Given the description of an element on the screen output the (x, y) to click on. 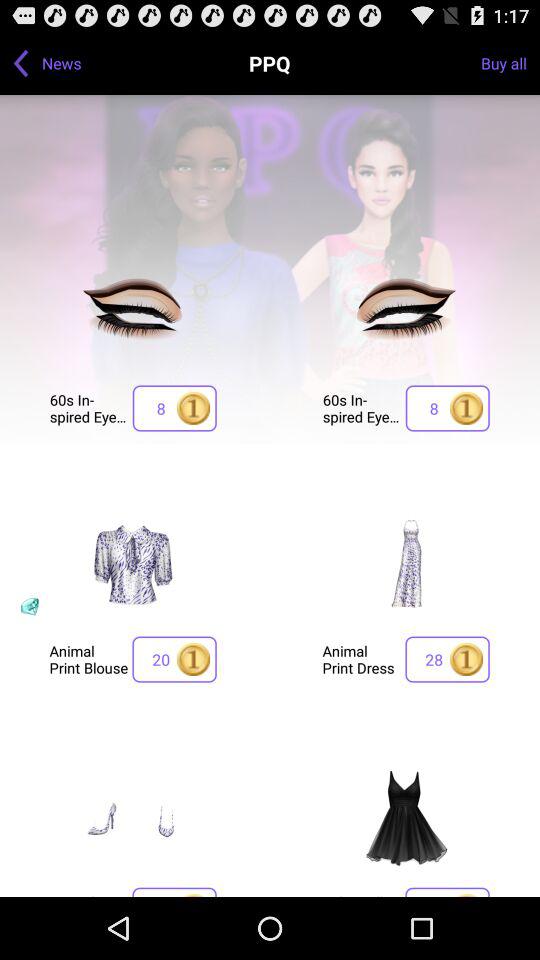
click on the second image on right (405, 567)
click on the left eye image (133, 314)
select the image which is above the animal print blouse (133, 567)
click on the button next to animal print dress (447, 659)
